Given the description of an element on the screen output the (x, y) to click on. 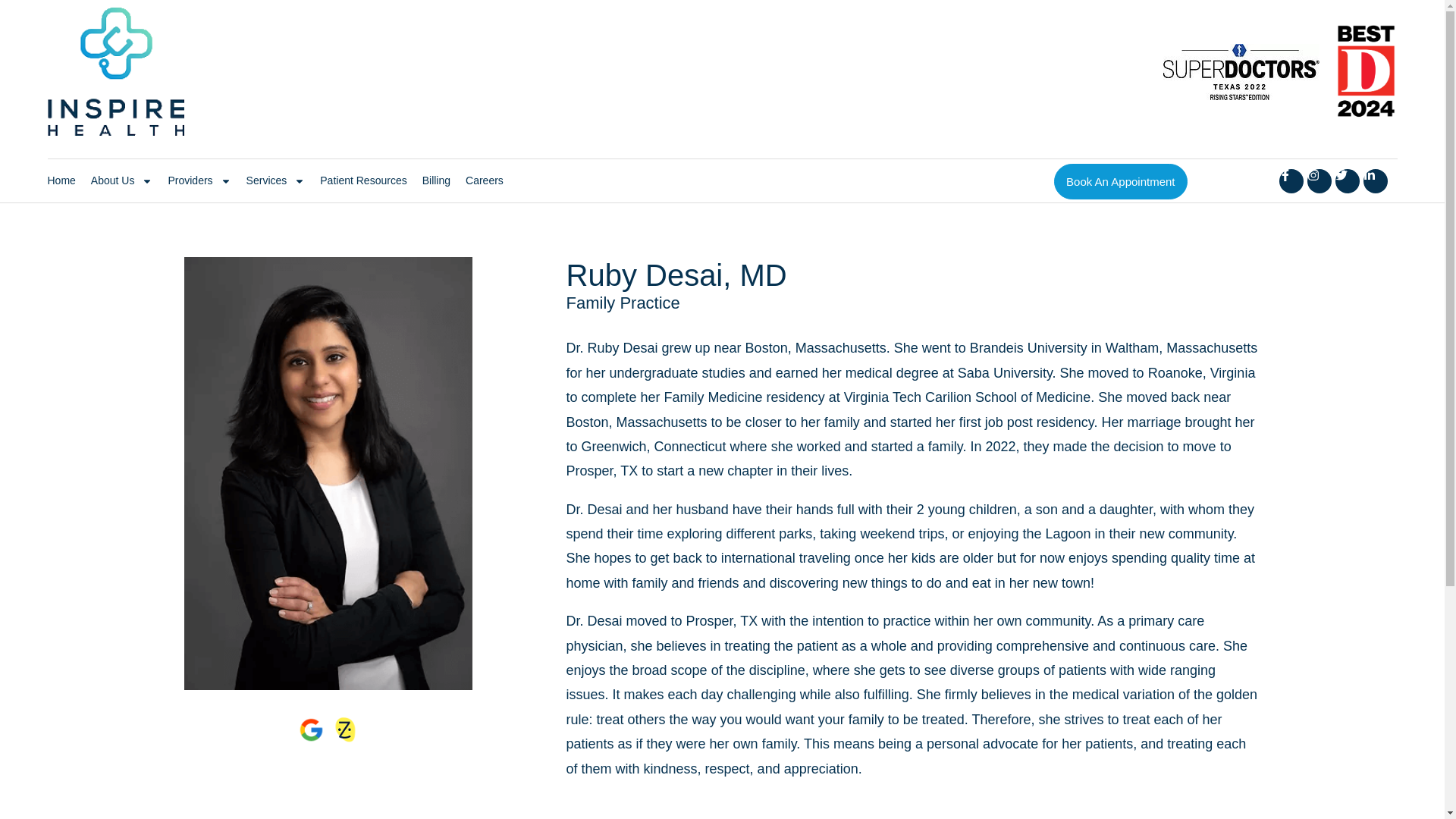
Book An Appointment (1120, 181)
Billing (435, 180)
Home (60, 180)
Providers (198, 180)
About Us (121, 180)
Careers (484, 180)
Services (275, 180)
Patient Resources (363, 180)
